Given the description of an element on the screen output the (x, y) to click on. 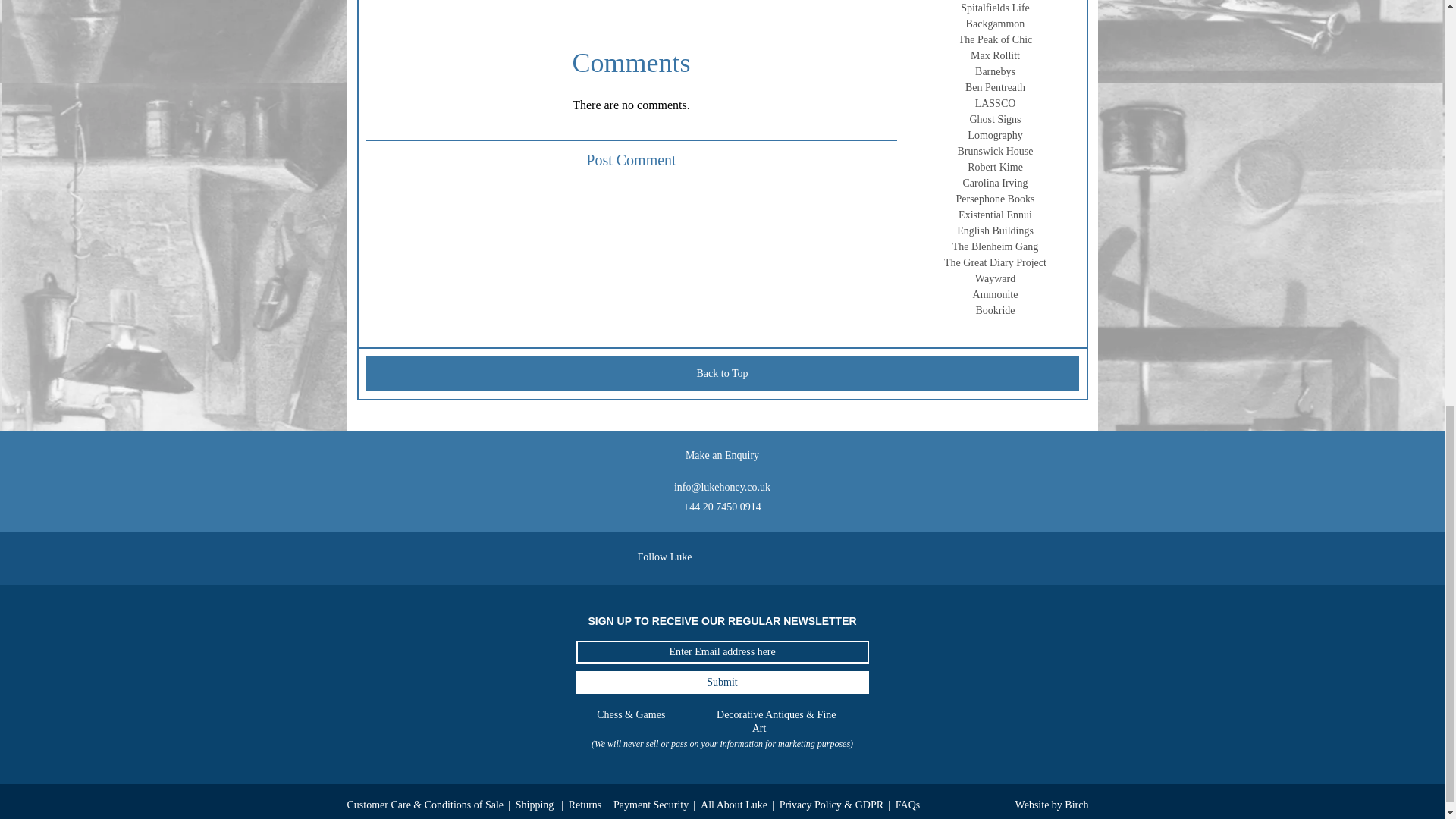
Enter Email address here (722, 651)
Submit (722, 681)
